Given the description of an element on the screen output the (x, y) to click on. 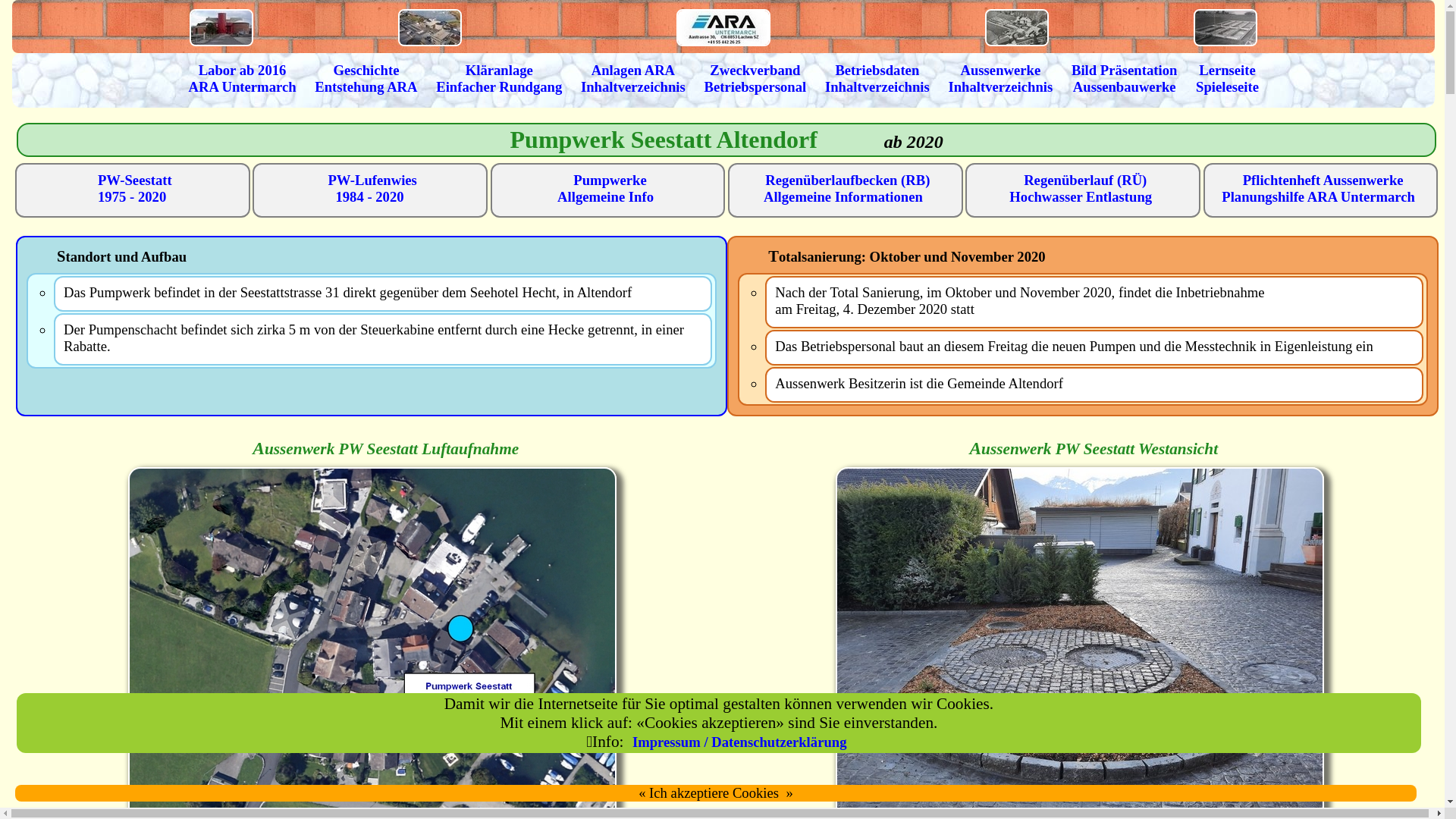
Geschichte
Entstehung ARA Element type: text (365, 80)
Zweckverband
Betriebspersonal Element type: text (754, 80)
Labor ab 2016
ARA Untermarch Element type: text (241, 80)
Pflichtenheft Aussenwerke
Planungshilfe ARA Untermarch Element type: text (1318, 188)
Pumpwerke
Allgemeine Info Element type: text (606, 188)
Lernseite
Spieleseite Element type: text (1227, 80)
Betriebsdaten
Inhaltverzeichnis Element type: text (877, 80)
PW-Lufenwies
 1984 - 2020 Element type: text (371, 188)
PW-Seestatt
 1975 - 2020 Element type: text (132, 188)
Aussenwerke
Inhaltverzeichnis Element type: text (1000, 80)
Anlagen ARA
Inhaltverzeichnis Element type: text (633, 80)
